Given the description of an element on the screen output the (x, y) to click on. 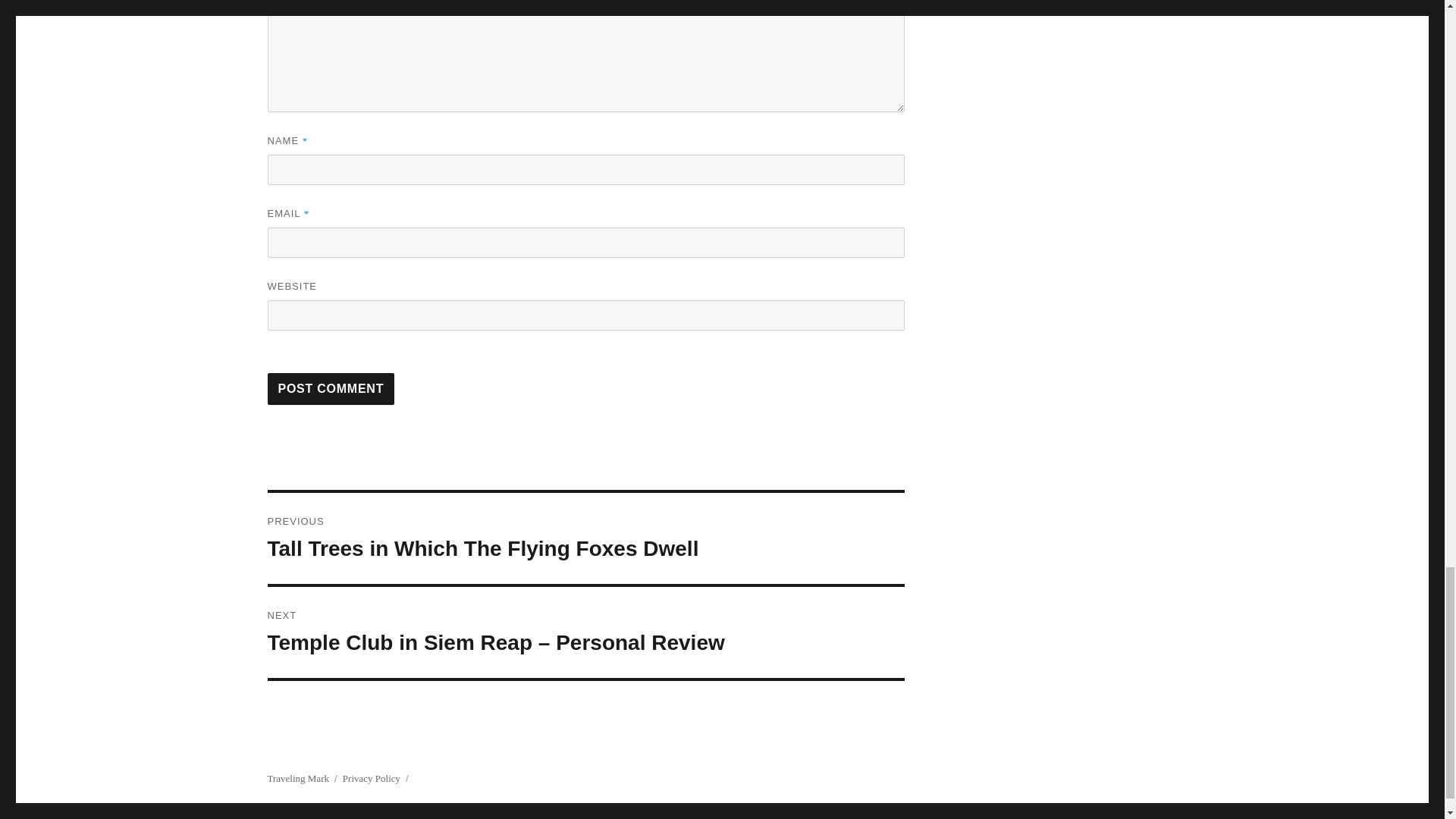
Post Comment (330, 388)
